Given the description of an element on the screen output the (x, y) to click on. 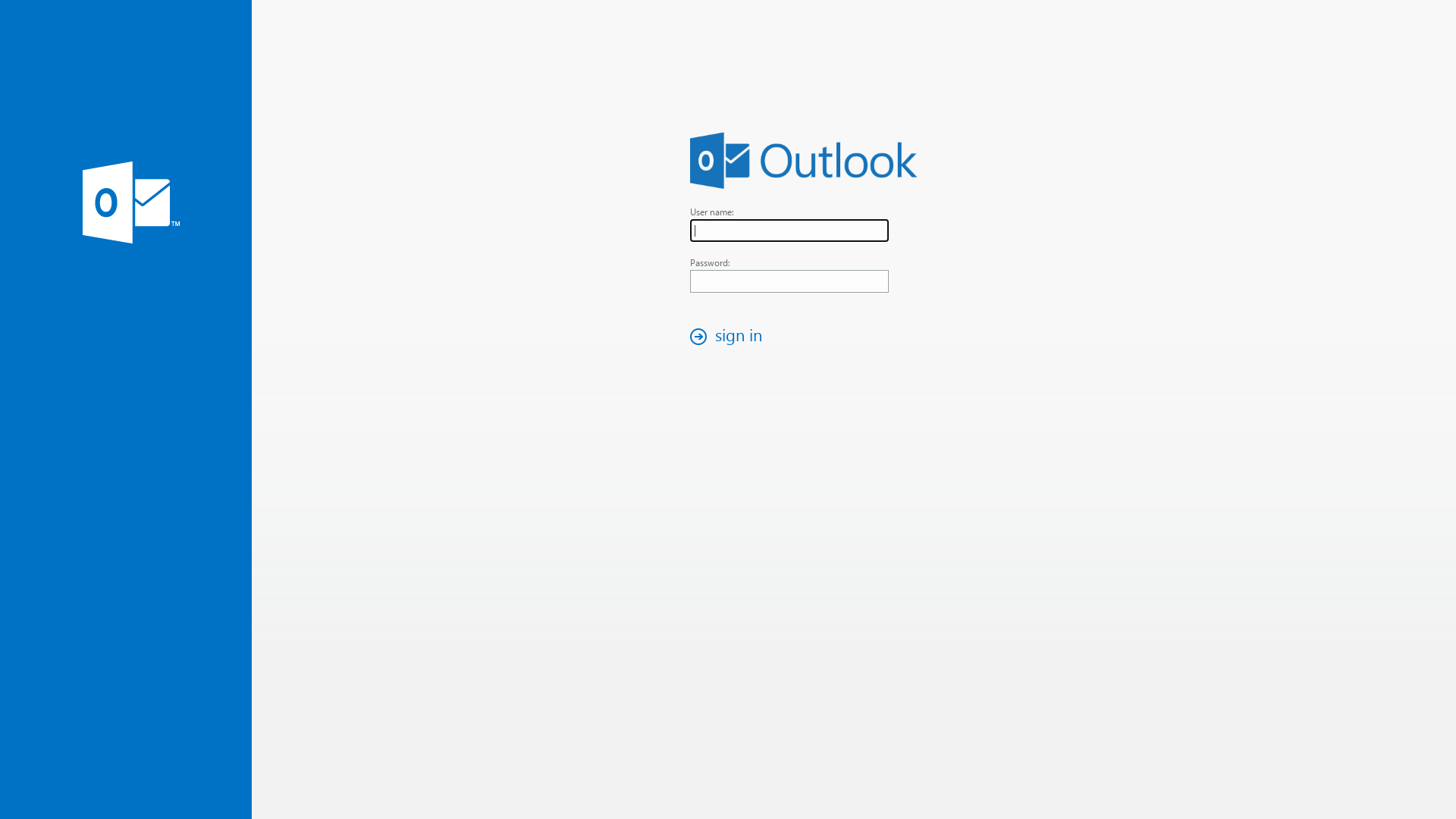
sign in Element type: text (730, 336)
